Given the description of an element on the screen output the (x, y) to click on. 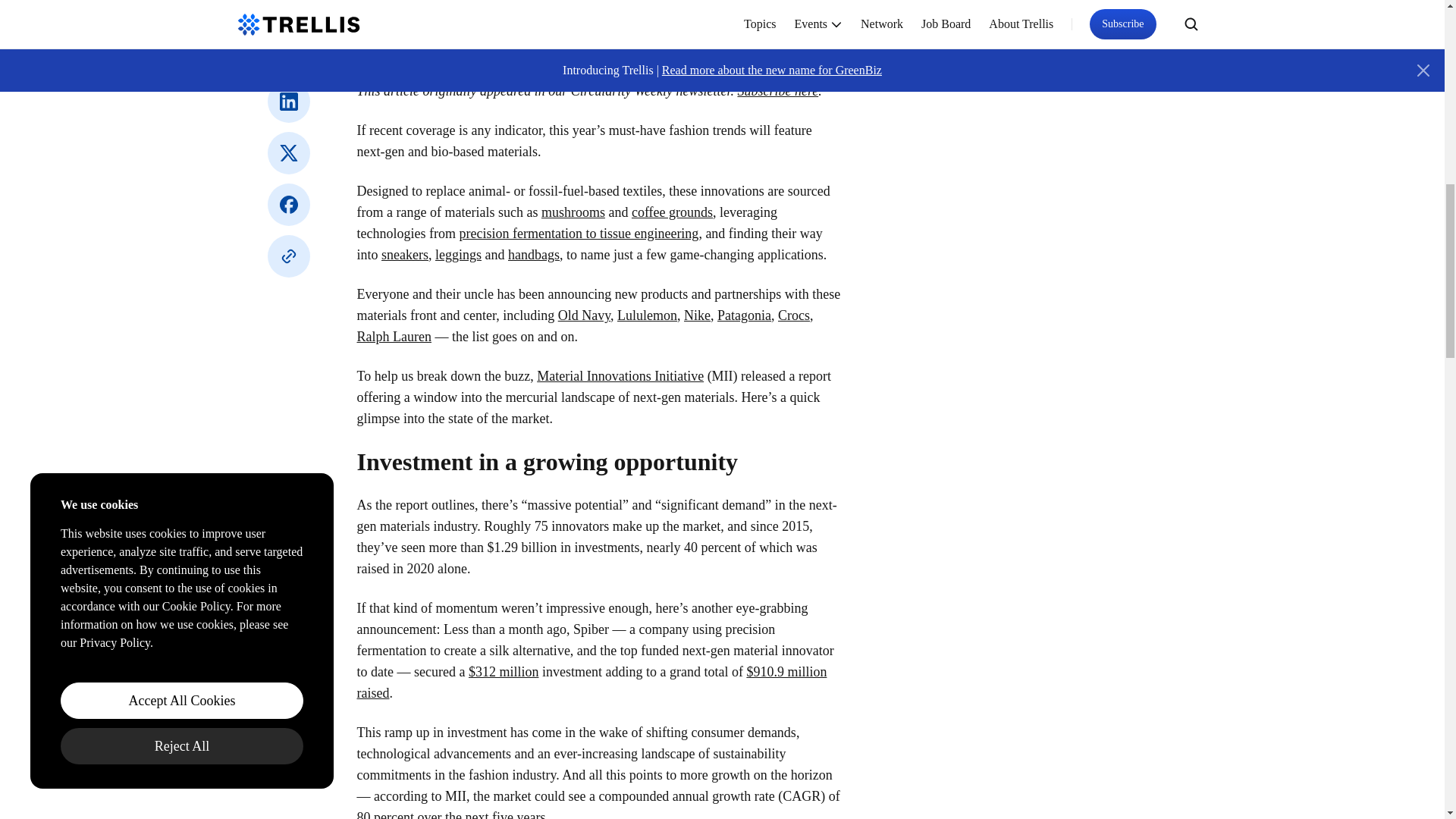
Material Innovations Initiative (620, 376)
X (287, 152)
handbags (533, 254)
sneakers (404, 254)
coffee grounds (672, 212)
Patagonia (744, 314)
Crocs (793, 314)
Facebook (287, 204)
Lululemon (647, 314)
Ralph Lauren (393, 336)
mushrooms (573, 212)
Nike (697, 314)
Website (287, 256)
LinkedIn (287, 101)
Old Navy (583, 314)
